Given the description of an element on the screen output the (x, y) to click on. 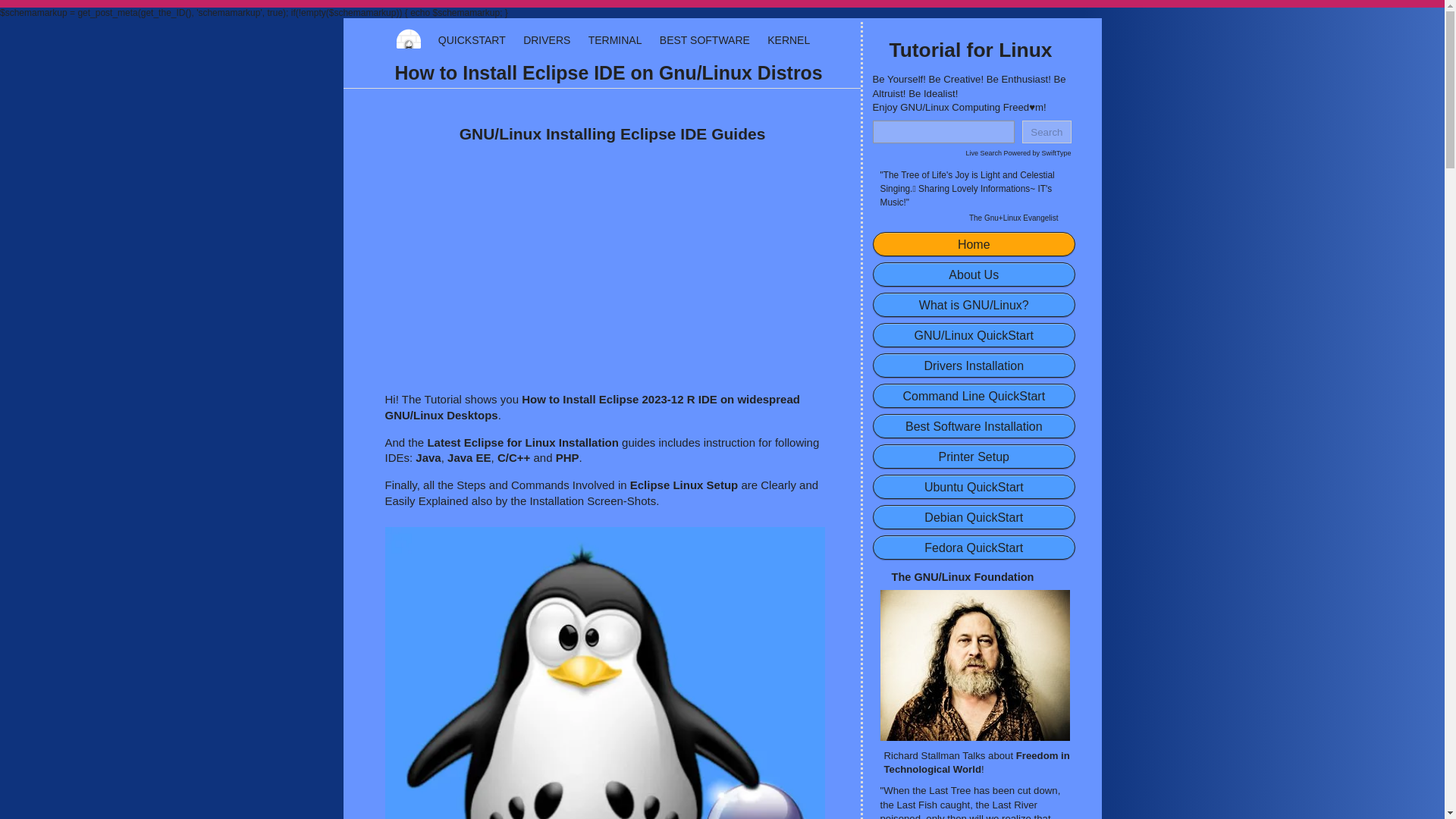
QUICKSTART (471, 39)
KERNEL (788, 39)
Advertisement (606, 265)
DRIVERS (546, 39)
TERMINAL (615, 39)
BEST SOFTWARE (704, 39)
